Given the description of an element on the screen output the (x, y) to click on. 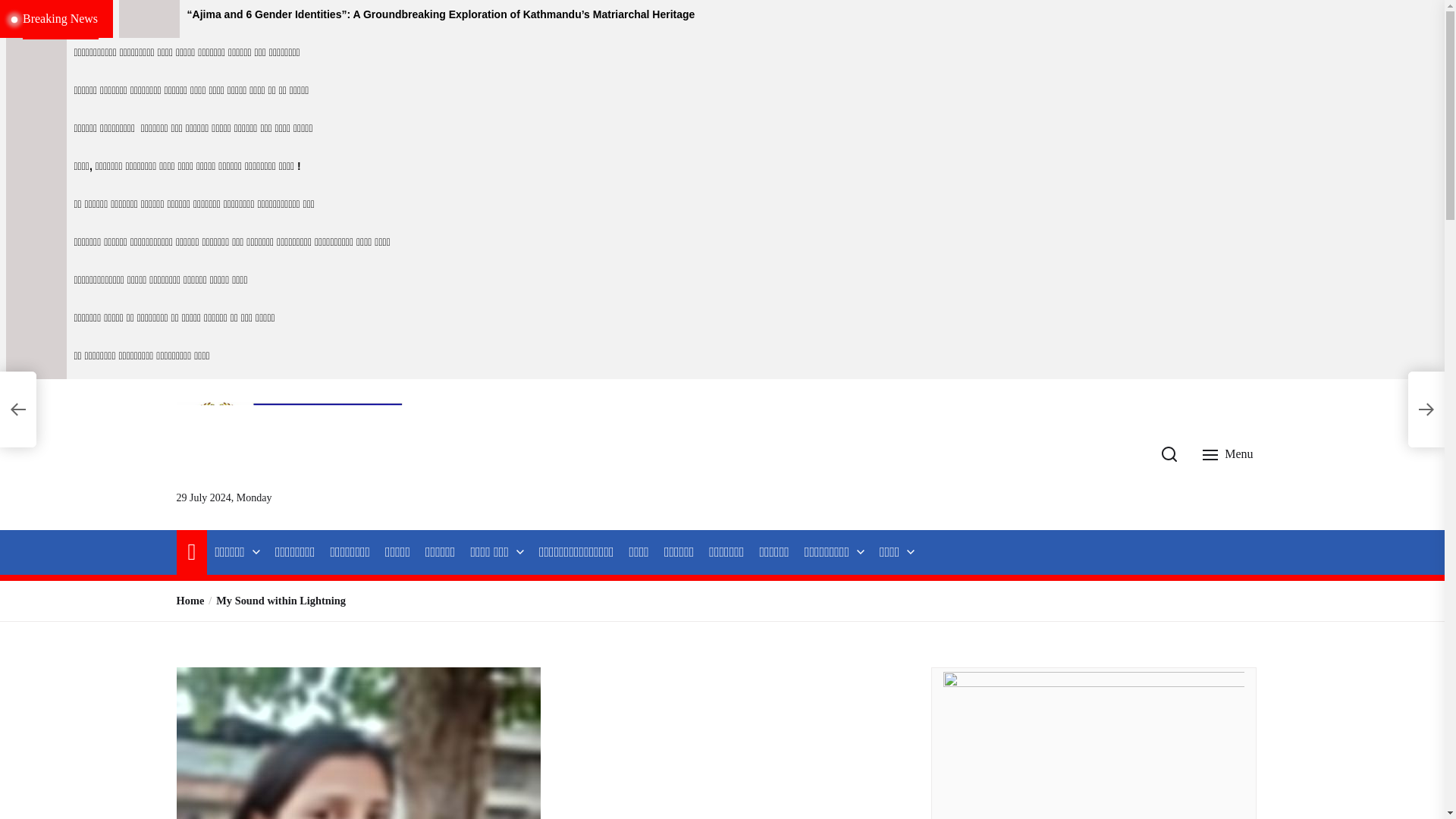
Menu (1229, 453)
